Given the description of an element on the screen output the (x, y) to click on. 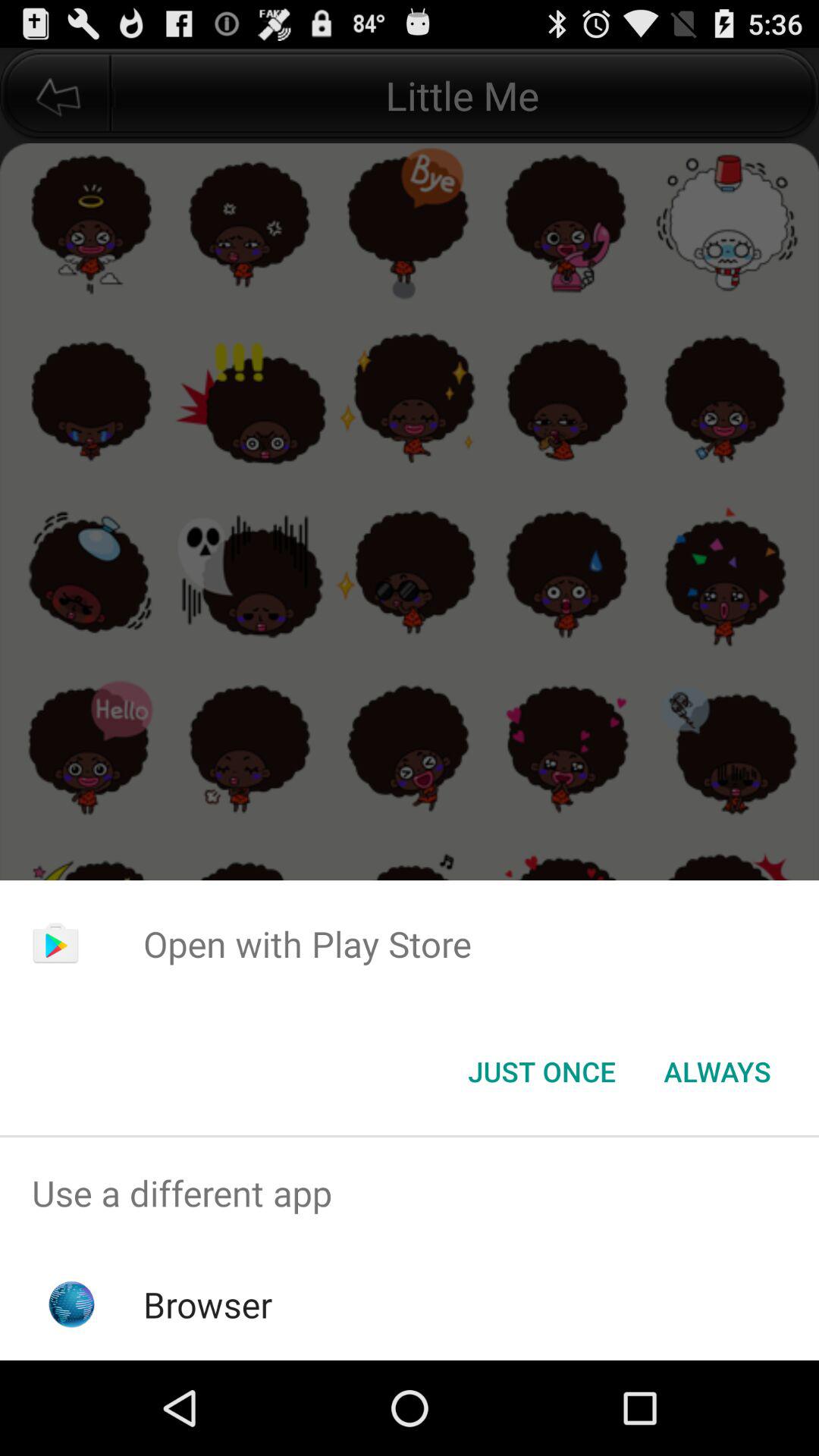
click the browser (207, 1304)
